Given the description of an element on the screen output the (x, y) to click on. 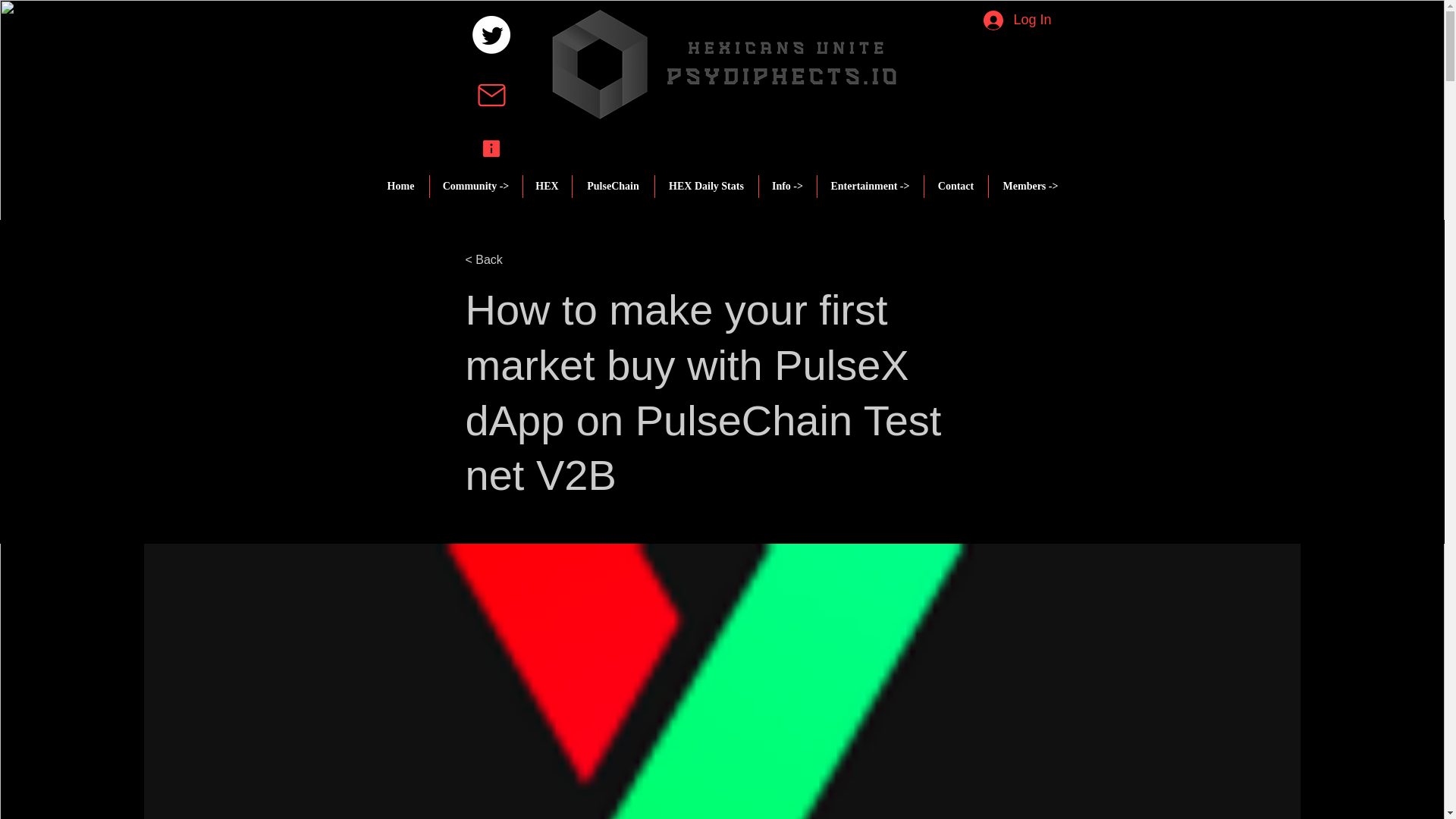
Log In (1001, 20)
icons8-info-squared-90.png (490, 148)
Contact (955, 186)
Home (400, 186)
PulseChain (612, 186)
HEX (545, 186)
HEX Daily Stats (705, 186)
Screen Shot 2023-02-07 at 11.42.03 PM.png (722, 64)
